Given the description of an element on the screen output the (x, y) to click on. 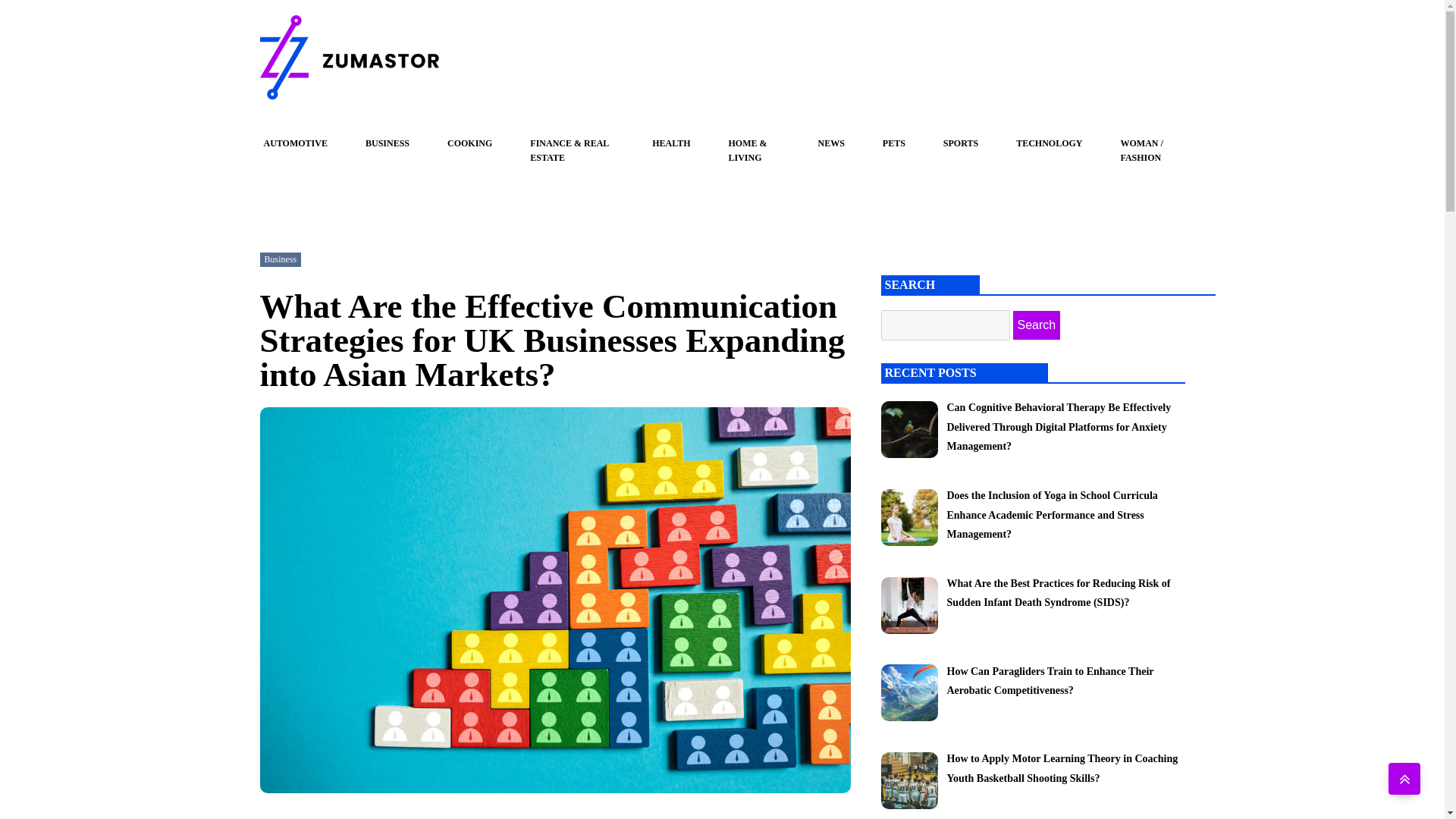
AUTOMOTIVE (295, 143)
Business (280, 258)
BUSINESS (387, 143)
SPORTS (960, 143)
PETS (893, 143)
NEWS (831, 143)
TECHNOLOGY (1048, 143)
Search (1037, 325)
Search (1037, 325)
COOKING (469, 143)
HEALTH (671, 143)
